Given the description of an element on the screen output the (x, y) to click on. 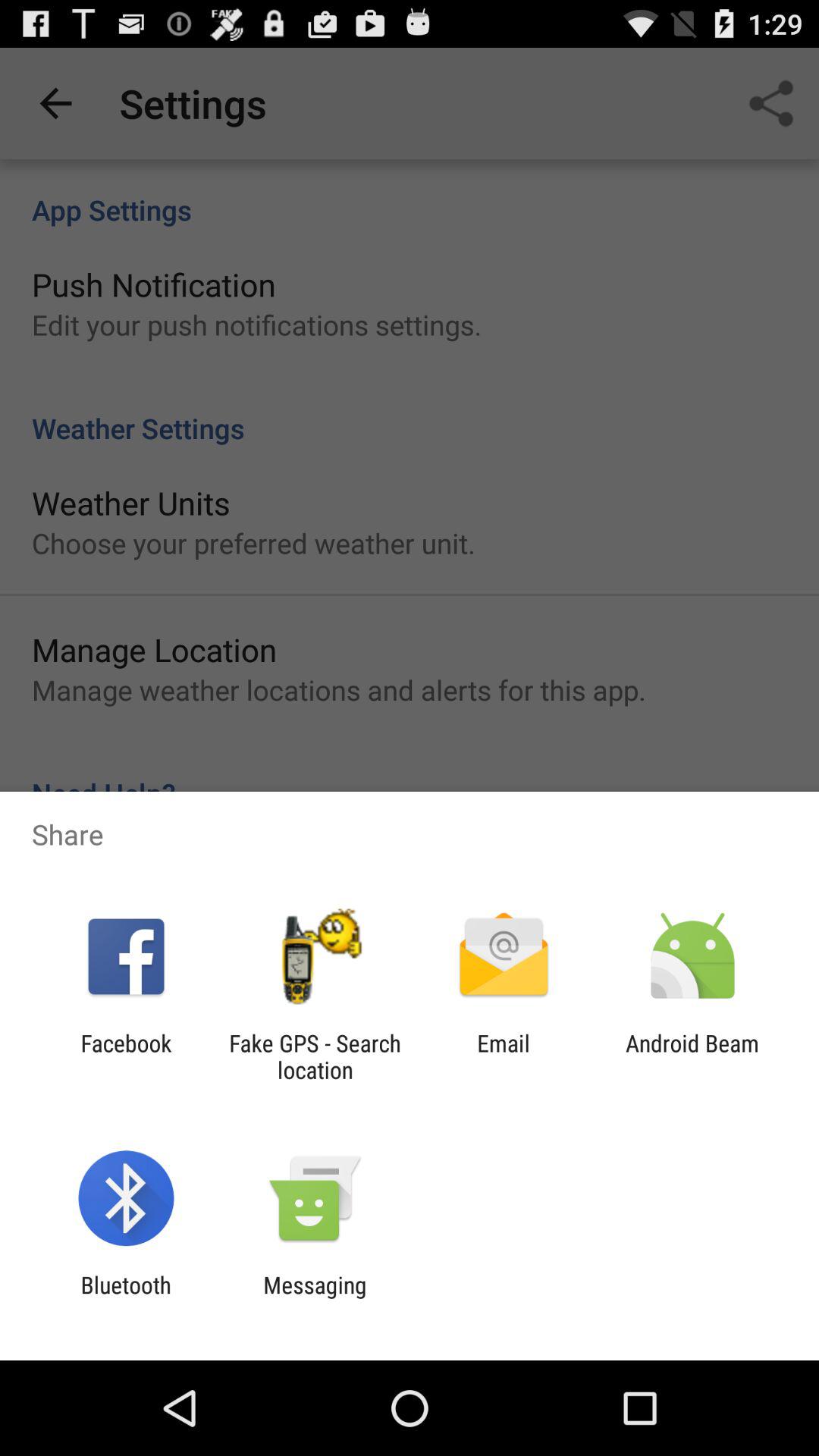
choose the icon next to the fake gps search icon (503, 1056)
